Given the description of an element on the screen output the (x, y) to click on. 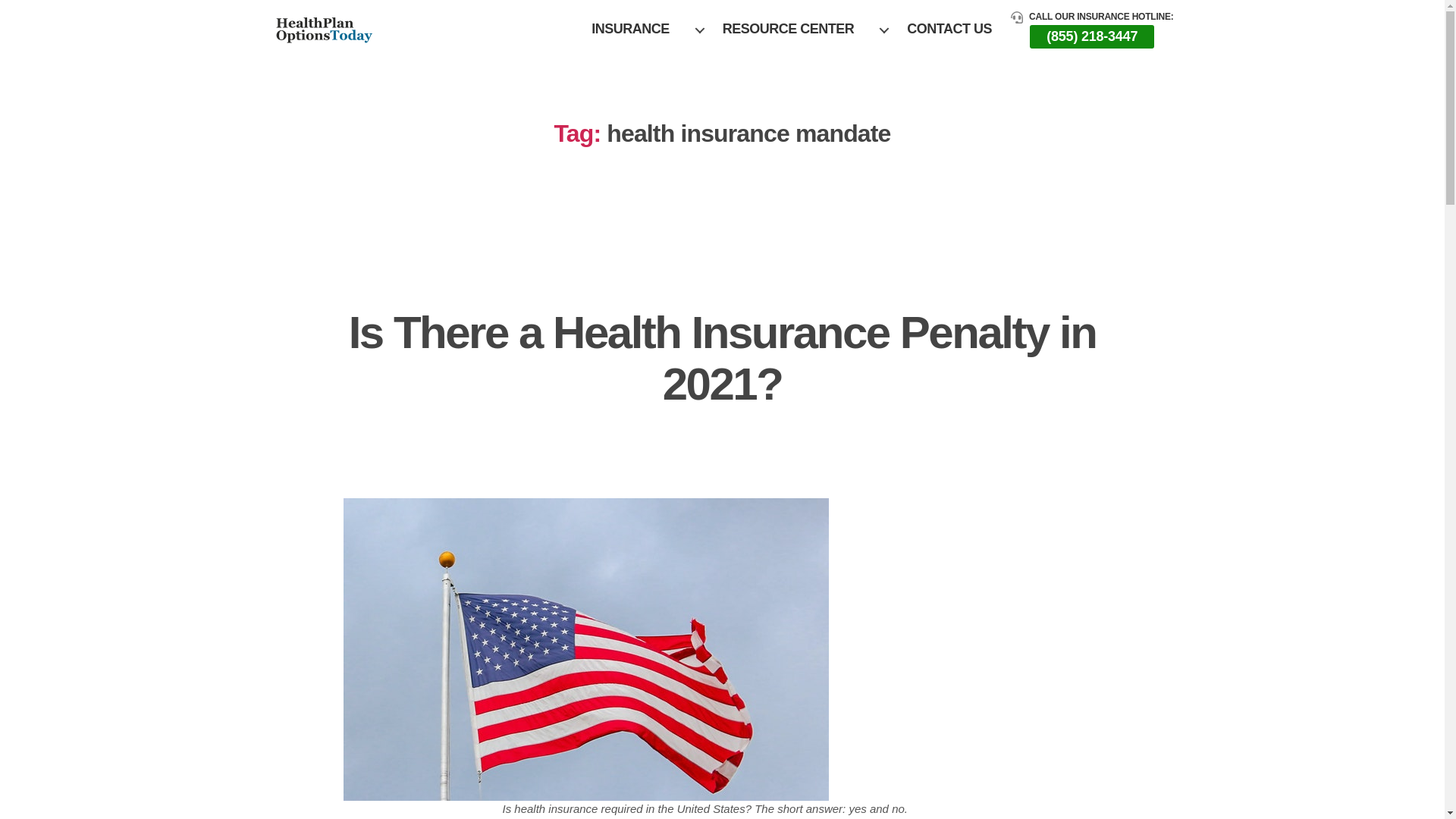
RESOURCE CENTER (795, 29)
February 25, 2021 (732, 441)
CONTACT US (949, 29)
INSURANCE (637, 29)
BLOG (721, 276)
Is There a Health Insurance Penalty in 2021? (722, 358)
